Given the description of an element on the screen output the (x, y) to click on. 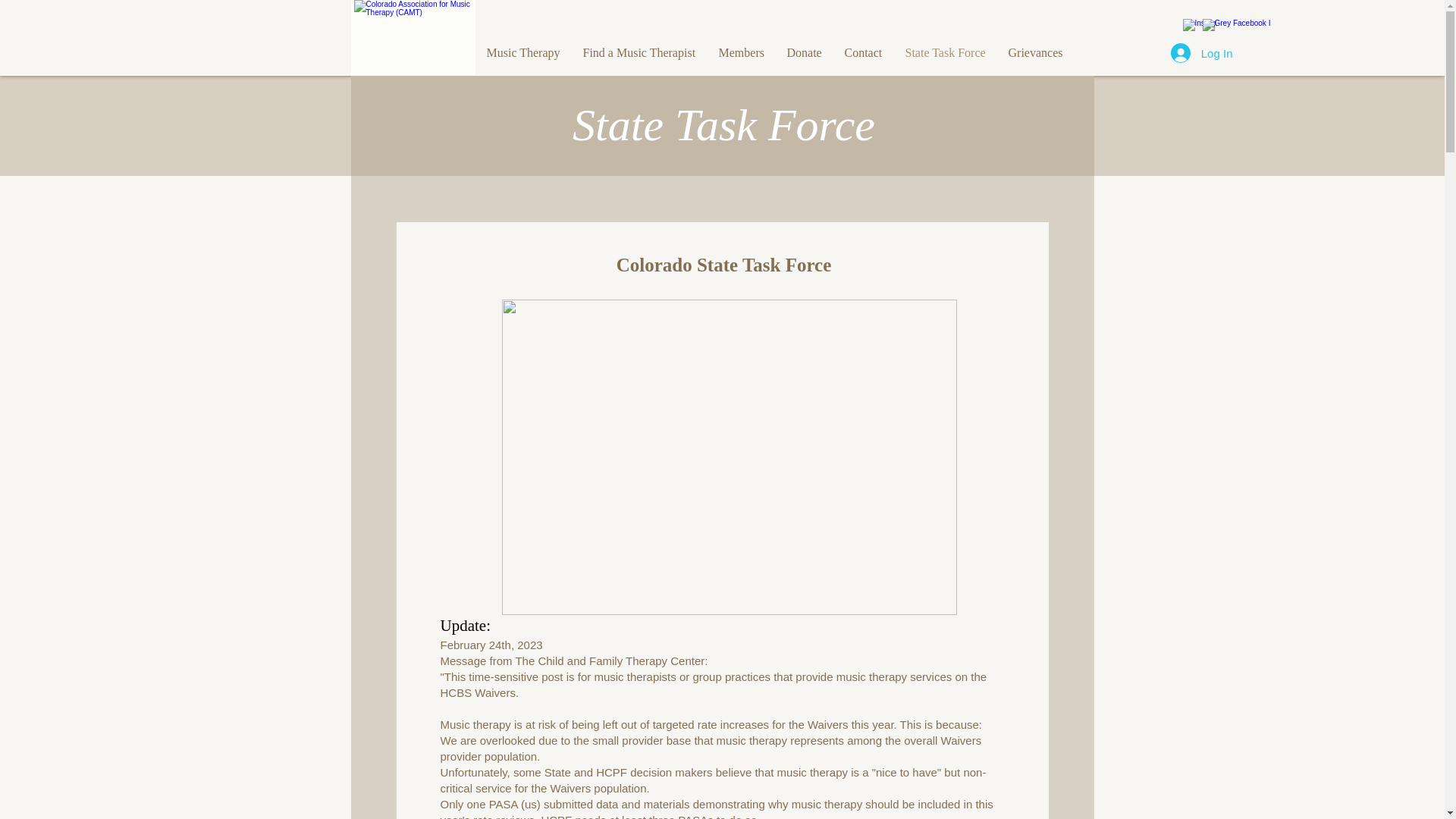
Log In (1201, 52)
Donate (803, 53)
State Task Force (944, 53)
Contact (862, 53)
Grievances (1034, 53)
Find a Music Therapist (639, 53)
Members (740, 53)
Music Therapy (522, 53)
